Given the description of an element on the screen output the (x, y) to click on. 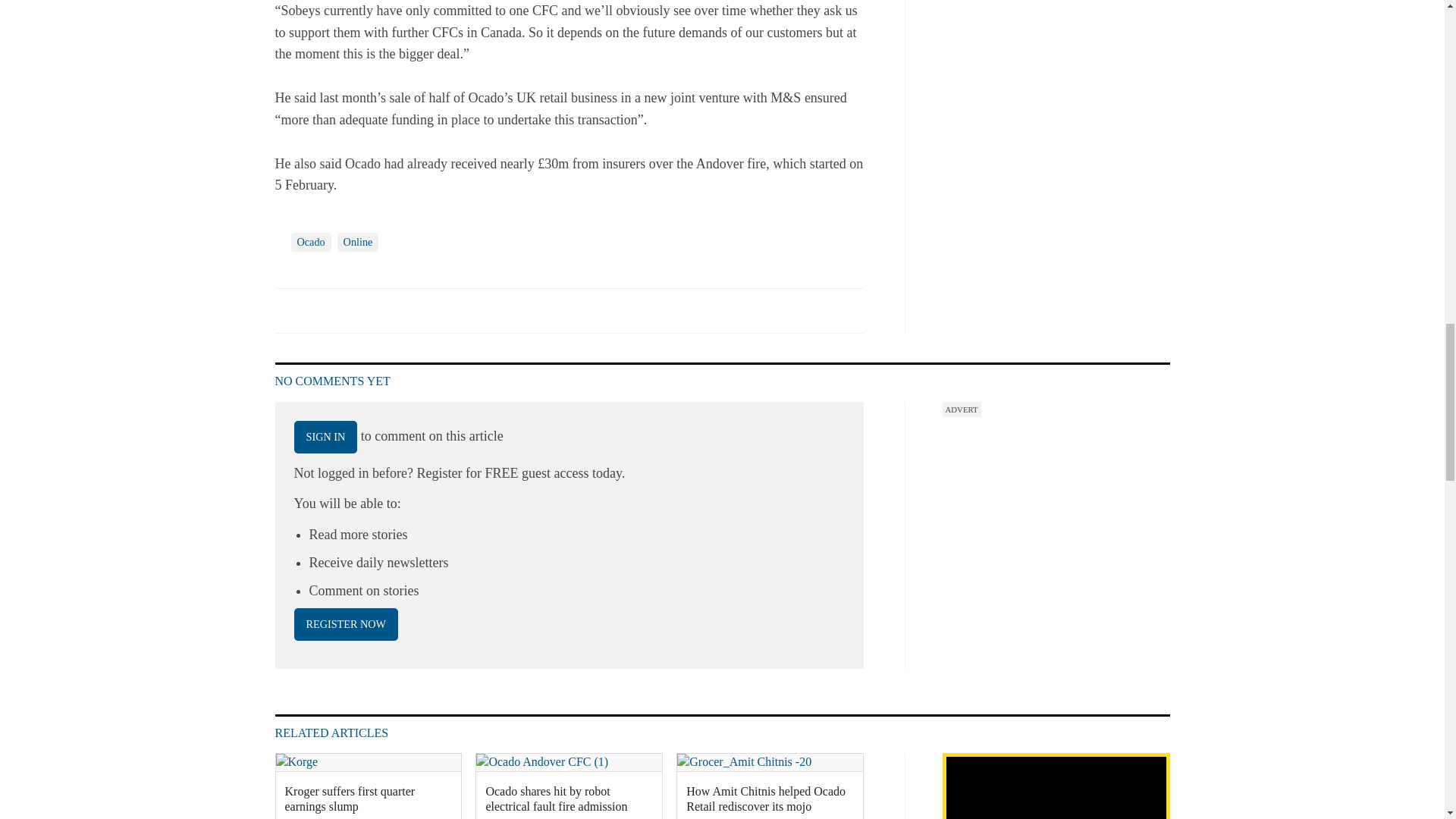
Email this article (386, 309)
No comments (840, 319)
Share this on Linked in (352, 309)
Share this on Twitter (320, 309)
Share this on Facebook (288, 309)
